Given the description of an element on the screen output the (x, y) to click on. 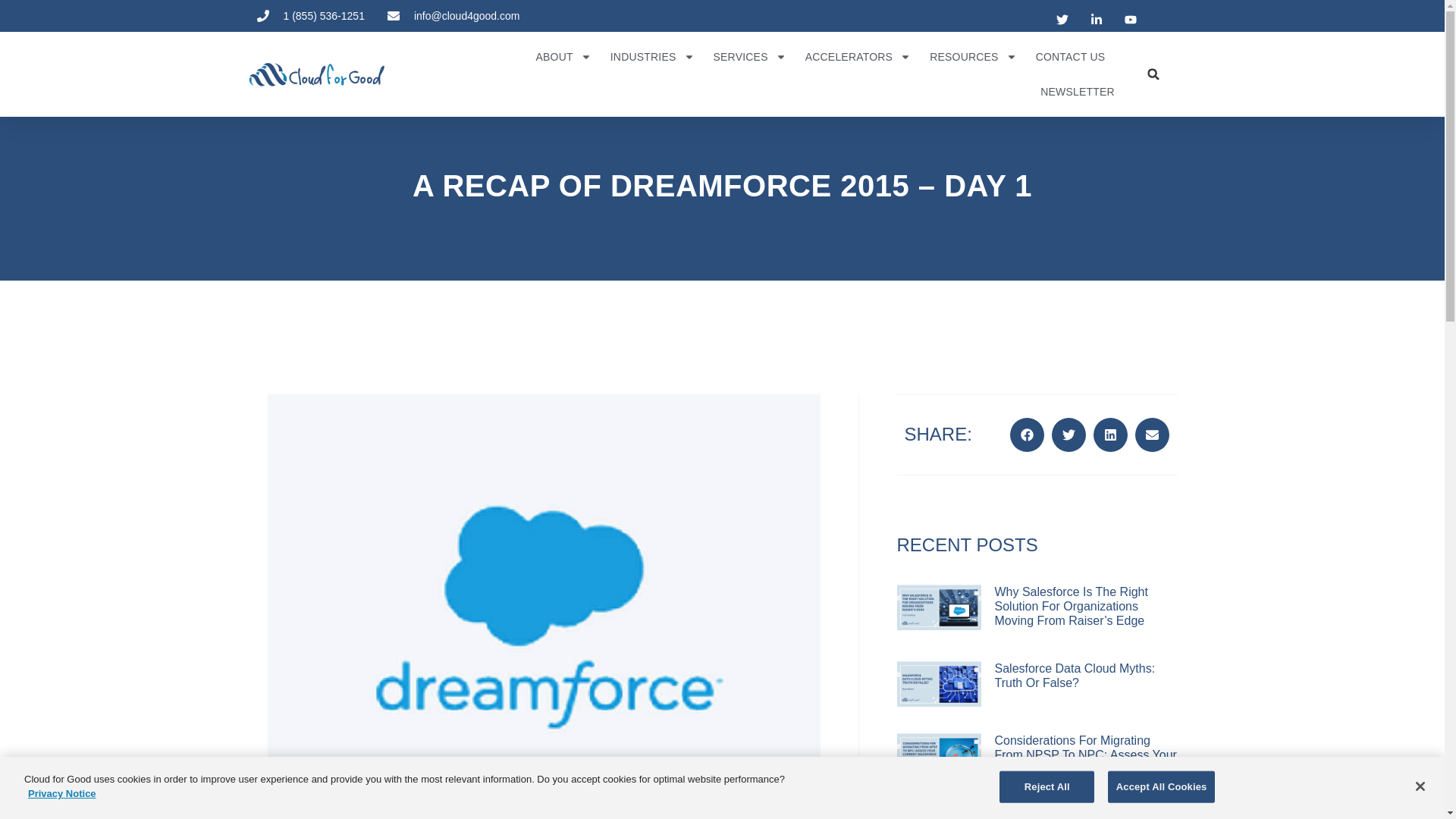
INDUSTRIES (652, 56)
SERVICES (749, 56)
ABOUT (563, 56)
ACCELERATORS (858, 56)
